Given the description of an element on the screen output the (x, y) to click on. 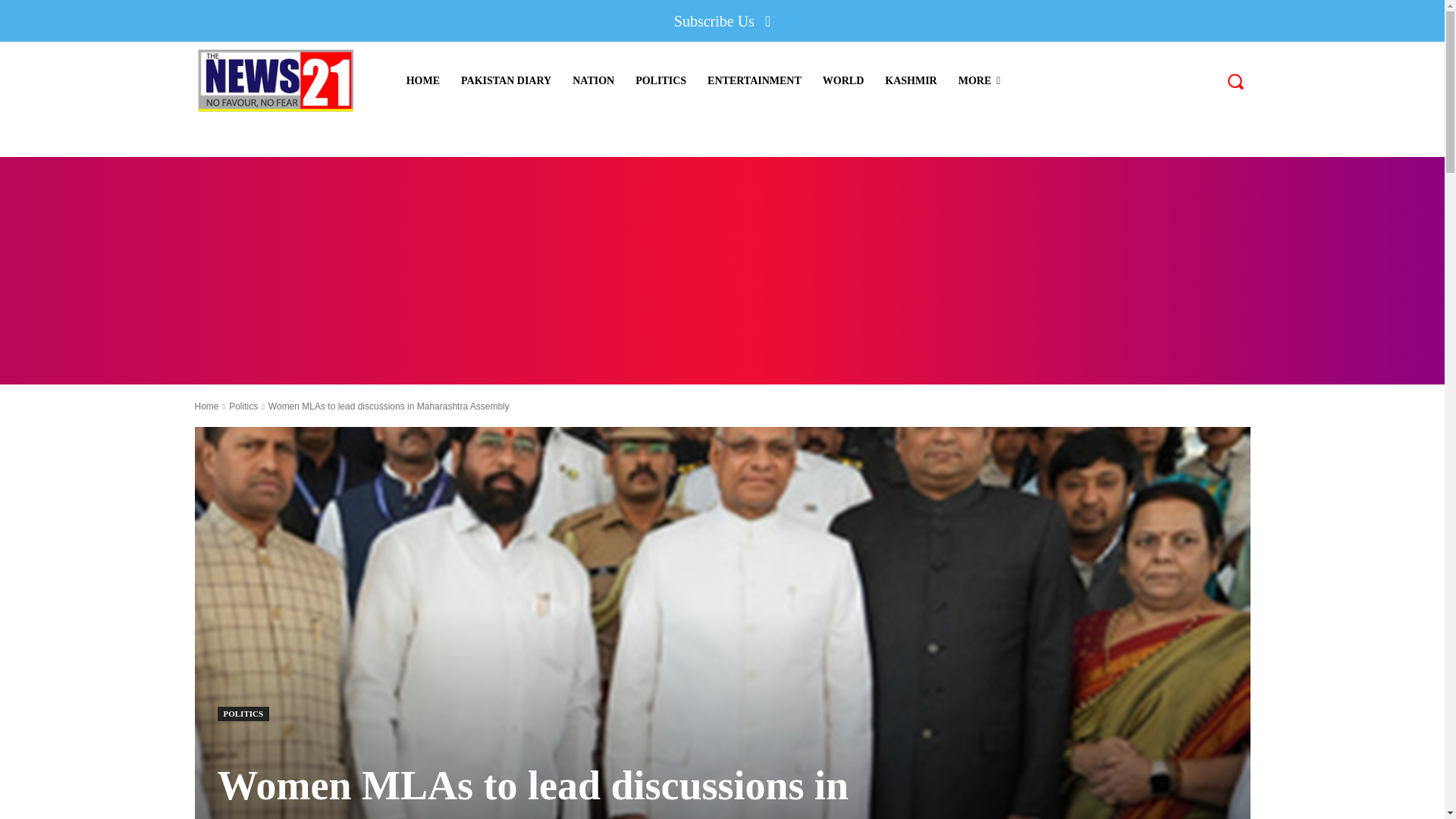
Politics (242, 406)
WORLD (843, 80)
POLITICS (242, 713)
KASHMIR (911, 80)
POLITICS (660, 80)
HOME (422, 80)
View all posts in Politics (242, 406)
ENTERTAINMENT (754, 80)
NATION (593, 80)
Home (205, 406)
